Given the description of an element on the screen output the (x, y) to click on. 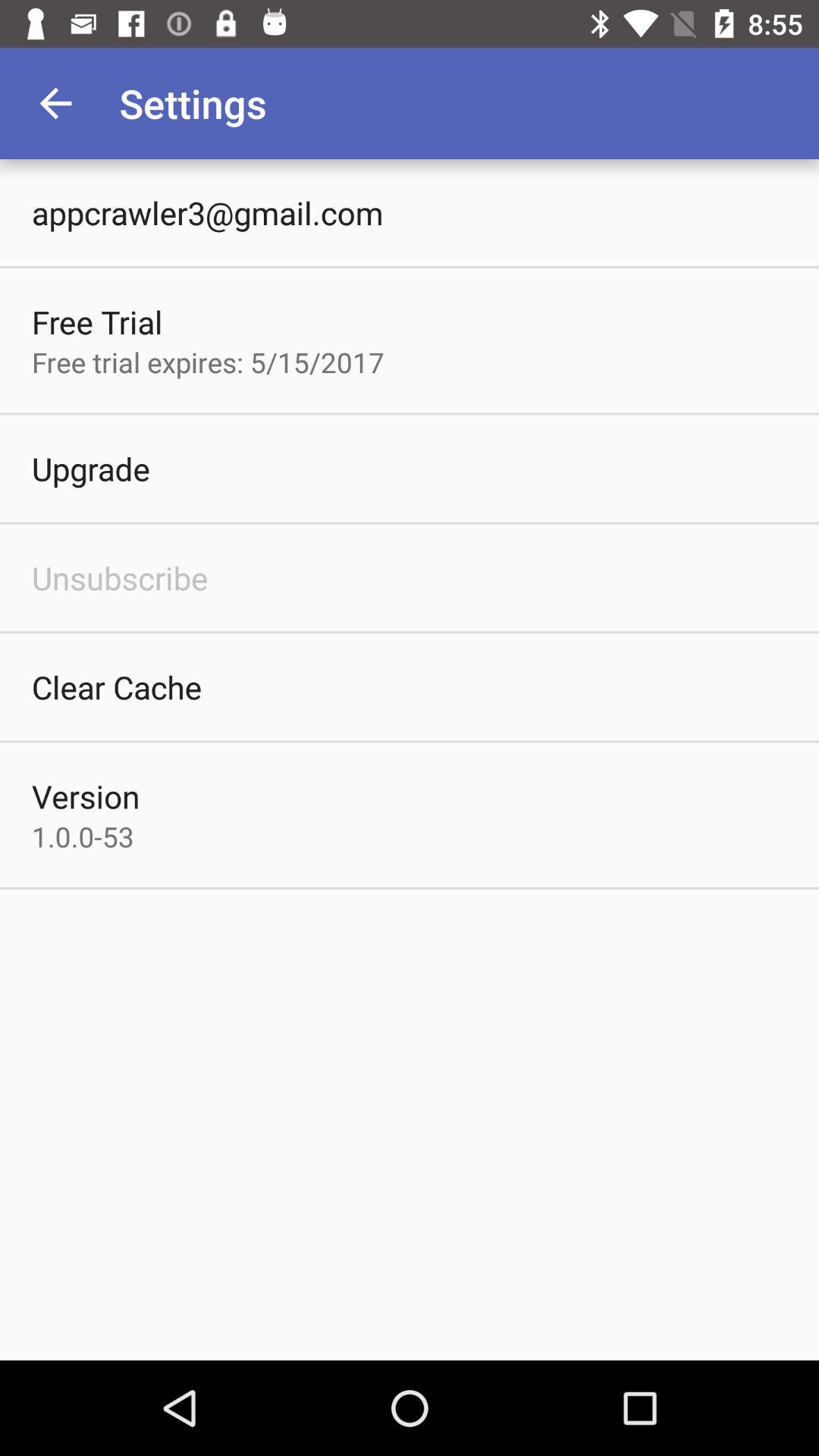
choose icon below unsubscribe icon (116, 686)
